Given the description of an element on the screen output the (x, y) to click on. 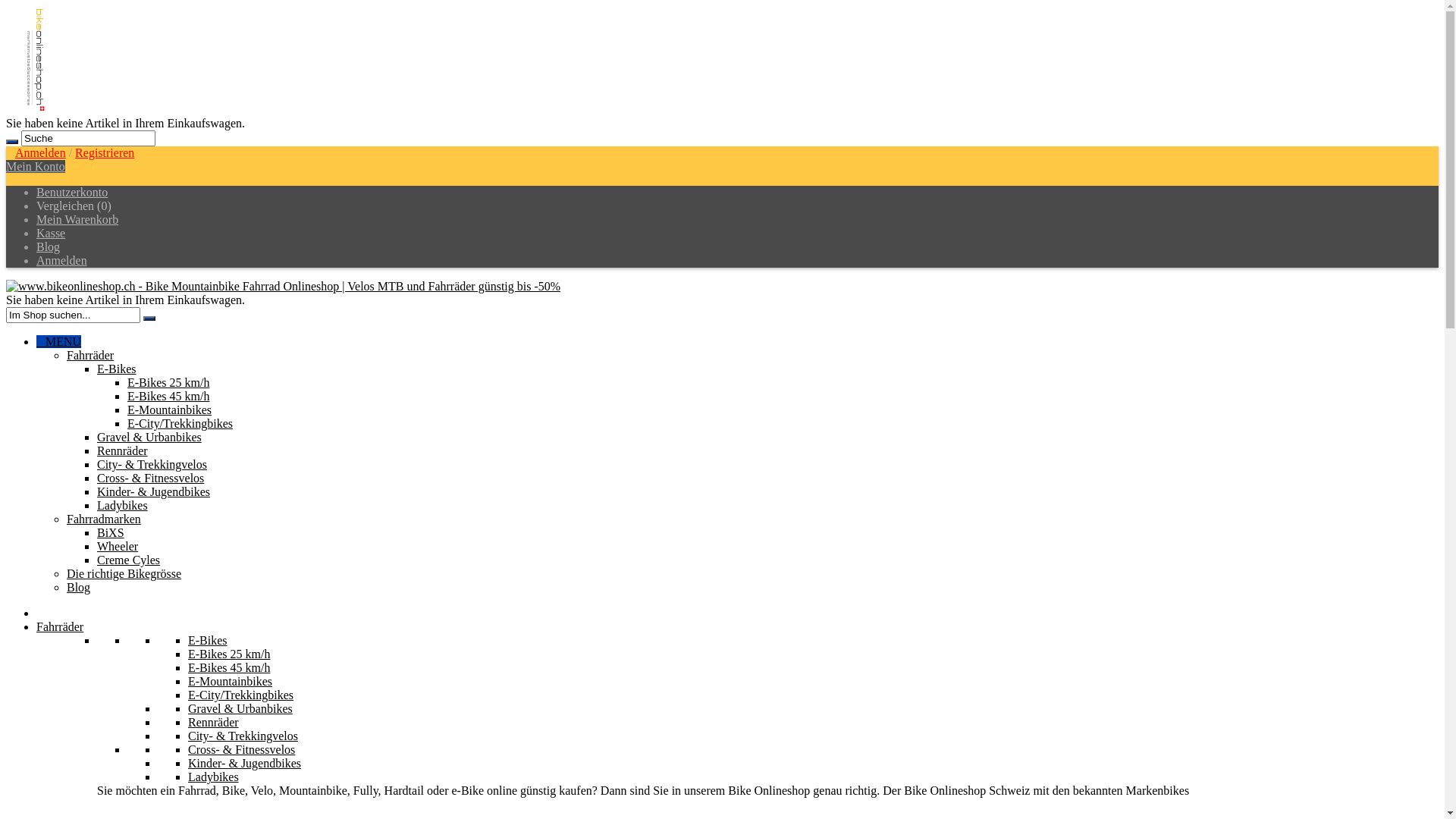
E-City/Trekkingbikes Element type: text (240, 694)
E-City/Trekkingbikes Element type: text (179, 423)
E-Bikes 45 km/h Element type: text (168, 395)
Kinder- & Jugendbikes Element type: text (244, 762)
Vergleichen (0) Element type: text (73, 205)
Cross- & Fitnessvelos Element type: text (241, 749)
Kinder- & Jugendbikes Element type: text (153, 491)
Registrieren Element type: text (104, 152)
E-Bikes 25 km/h Element type: text (228, 653)
Ladybikes Element type: text (213, 776)
City- & Trekkingvelos Element type: text (152, 464)
Blog Element type: text (47, 246)
E-Mountainbikes Element type: text (230, 680)
Anmelden Element type: text (40, 152)
Mein Konto Element type: text (35, 166)
Gravel & Urbanbikes Element type: text (240, 708)
Kasse Element type: text (50, 232)
E-Bikes 45 km/h Element type: text (228, 667)
E-Bikes Element type: text (116, 368)
Cross- & Fitnessvelos Element type: text (150, 477)
Fahrradmarken Element type: text (103, 518)
Anmelden Element type: text (61, 260)
E-Bikes Element type: text (207, 639)
City- & Trekkingvelos Element type: text (243, 735)
Creme Cyles Element type: text (128, 559)
E-Mountainbikes Element type: text (169, 409)
BiXS Element type: text (110, 532)
Wheeler Element type: text (117, 545)
   MENU Element type: text (58, 341)
Ladybikes Element type: text (122, 504)
Benutzerkonto Element type: text (71, 191)
Mein Warenkorb Element type: text (77, 219)
Gravel & Urbanbikes Element type: text (149, 436)
Blog Element type: text (78, 586)
E-Bikes 25 km/h Element type: text (168, 382)
